Given the description of an element on the screen output the (x, y) to click on. 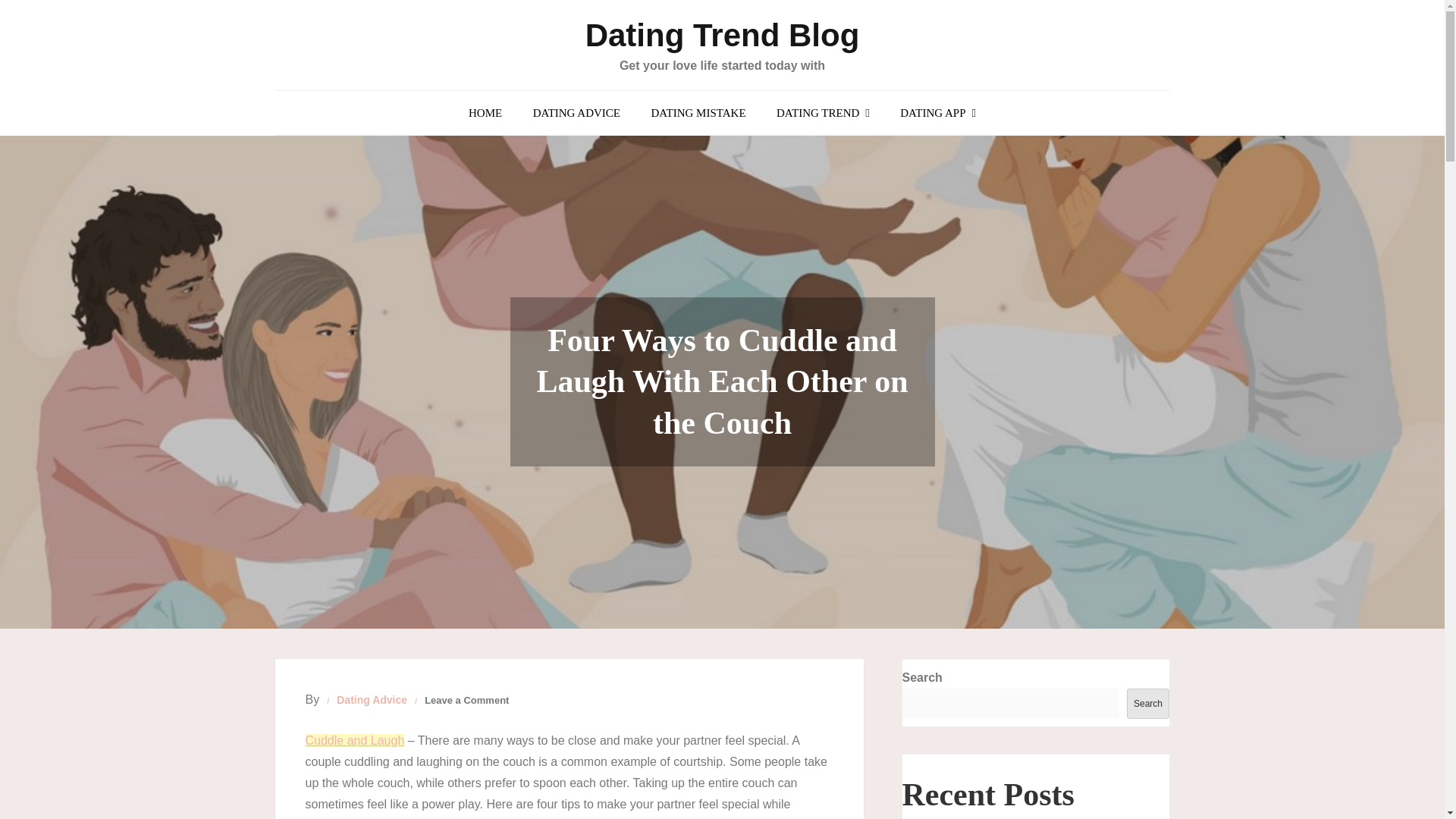
HOME (484, 112)
DATING ADVICE (576, 112)
Cuddle and Laugh (354, 739)
Search (1147, 703)
DATING TREND (822, 112)
DATING APP (938, 112)
DATING MISTAKE (697, 112)
Dating Advice (371, 699)
Dating Trend Blog (722, 35)
